Given the description of an element on the screen output the (x, y) to click on. 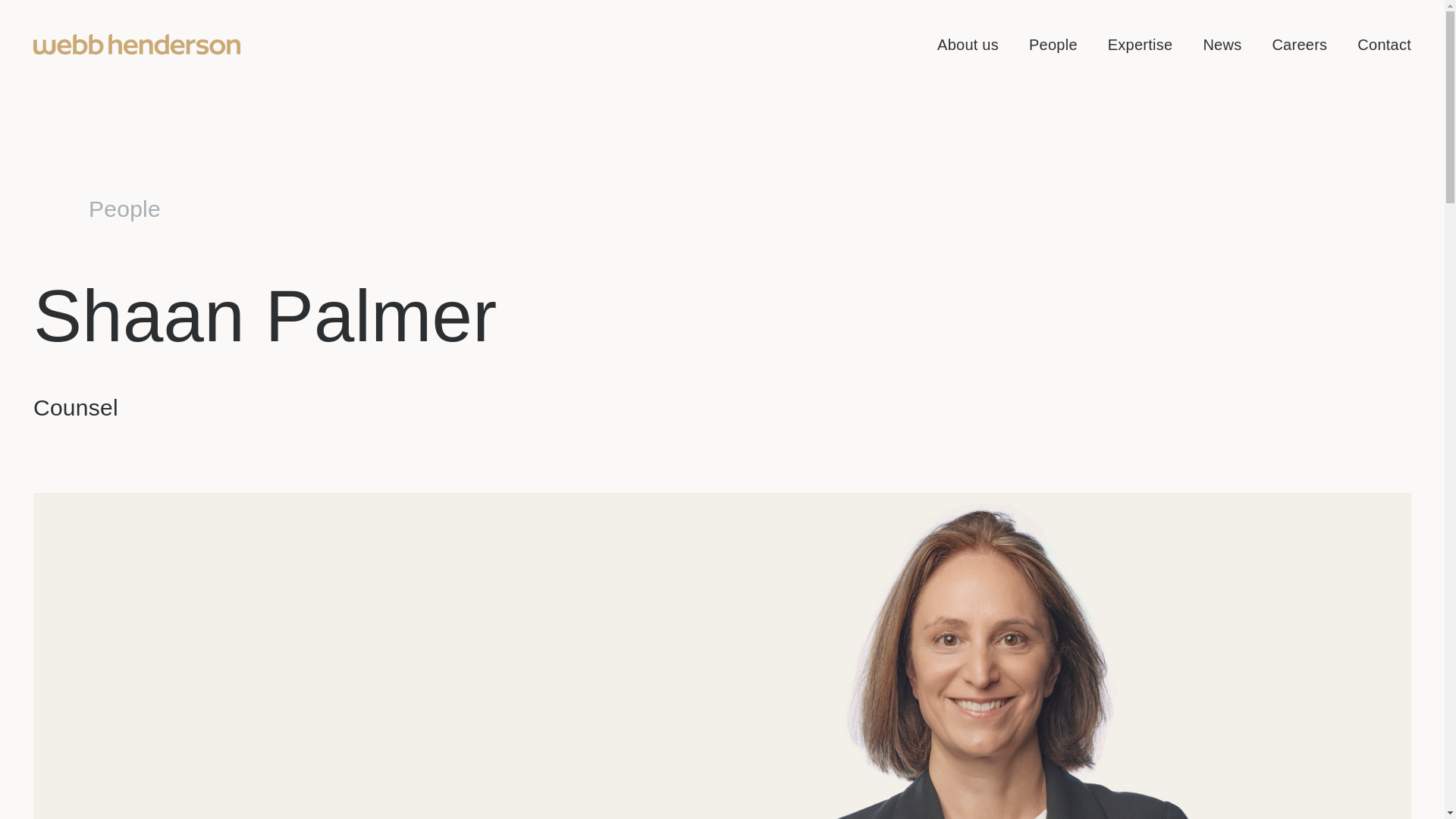
Careers (1298, 43)
People (1053, 43)
Webb Henderson (136, 44)
People (1053, 43)
About us (967, 43)
Careers (1298, 43)
News (1221, 43)
Contact (1383, 43)
Contact (1383, 43)
Expertise (1140, 43)
